Given the description of an element on the screen output the (x, y) to click on. 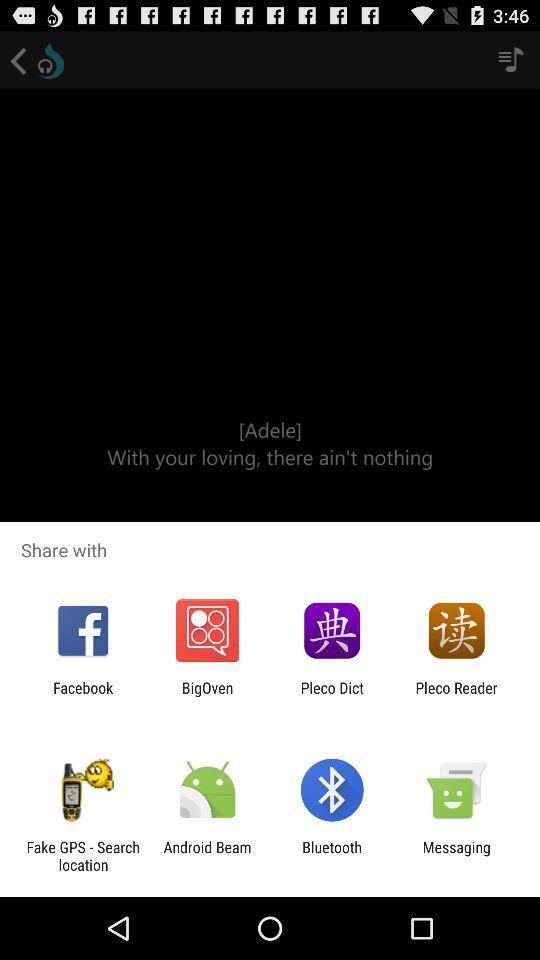
choose the app to the left of android beam (83, 856)
